Given the description of an element on the screen output the (x, y) to click on. 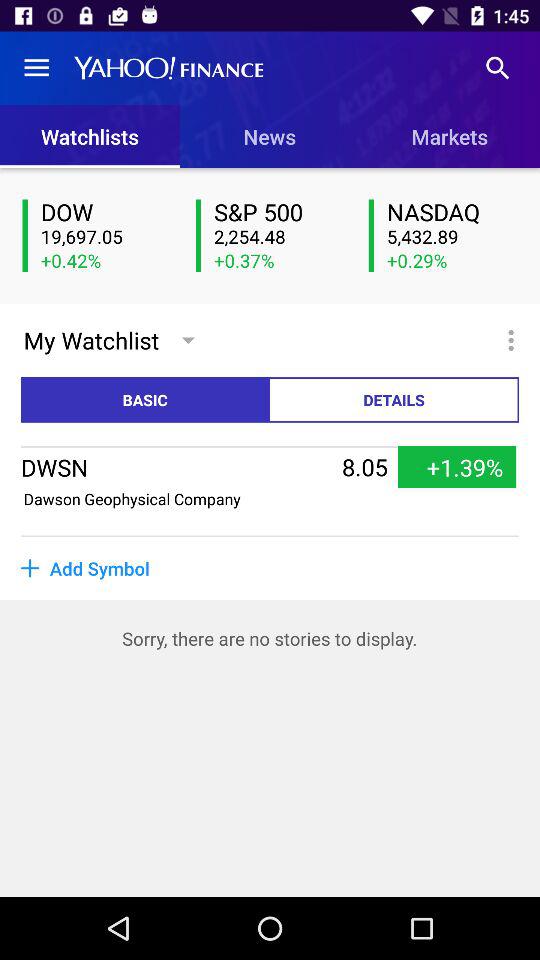
choose item next to the 8.05 icon (457, 467)
